Given the description of an element on the screen output the (x, y) to click on. 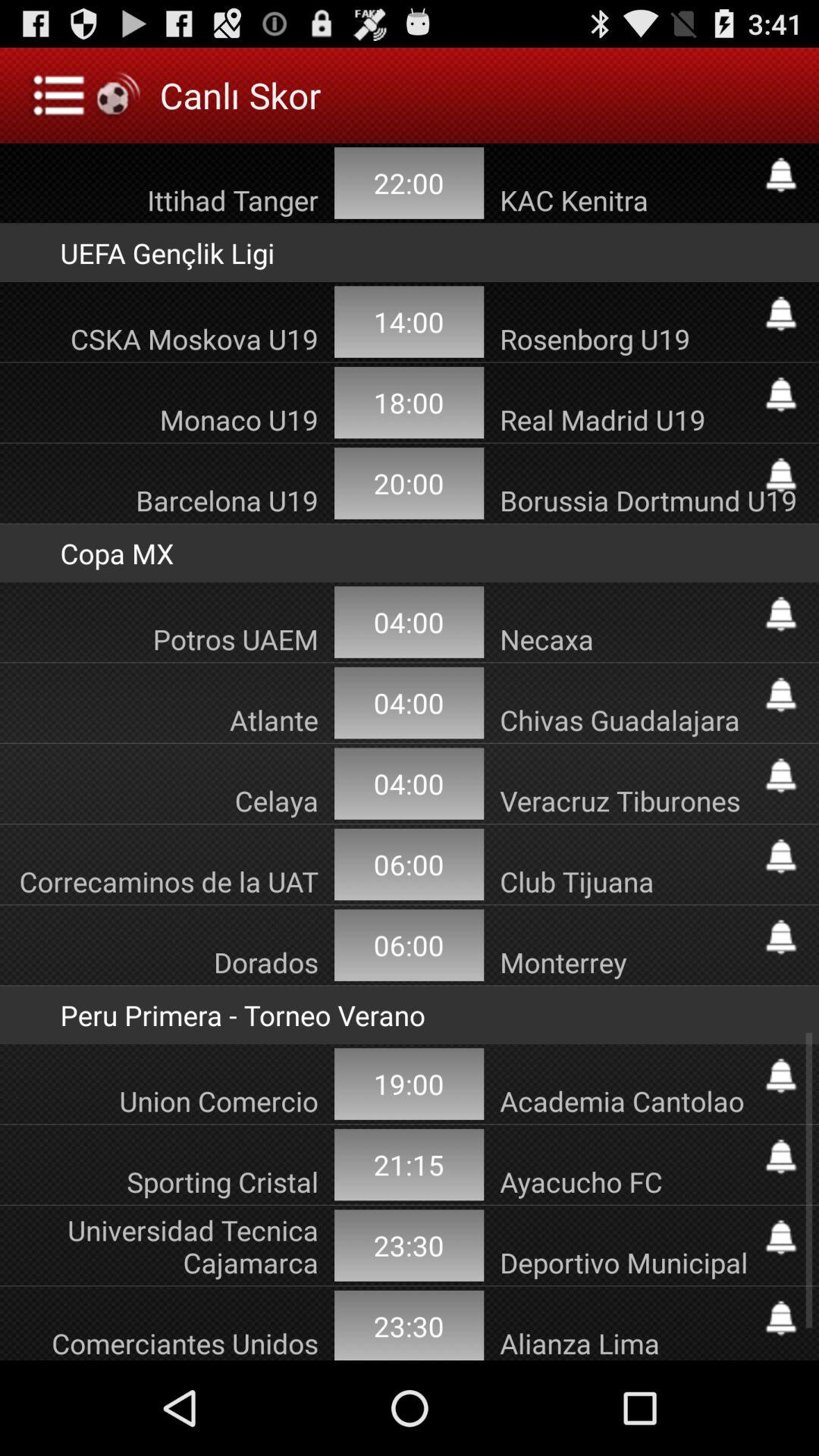
shows bell icon (780, 694)
